Given the description of an element on the screen output the (x, y) to click on. 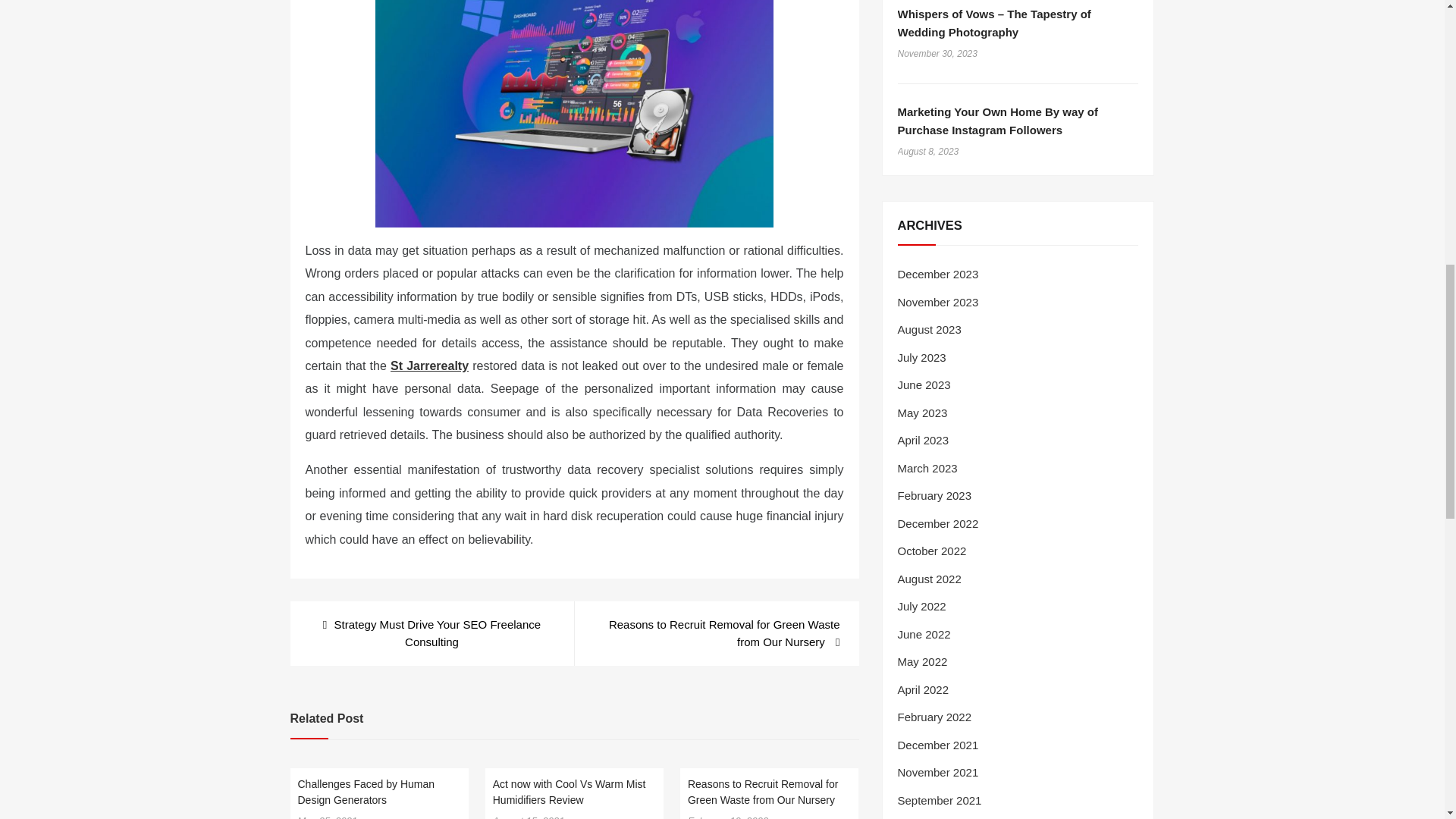
Act now with Cool Vs Warm Mist Humidifiers Review (569, 792)
December 2023 (938, 273)
Reasons to Recruit Removal for Green Waste from Our Nursery (762, 792)
August 2023 (929, 328)
November 2023 (938, 301)
Strategy Must Drive Your SEO Freelance Consulting (431, 633)
Reasons to Recruit Removal for Green Waste from Our Nursery (716, 633)
Challenges Faced by Human Design Generators (365, 792)
St Jarrerealty (429, 365)
